Given the description of an element on the screen output the (x, y) to click on. 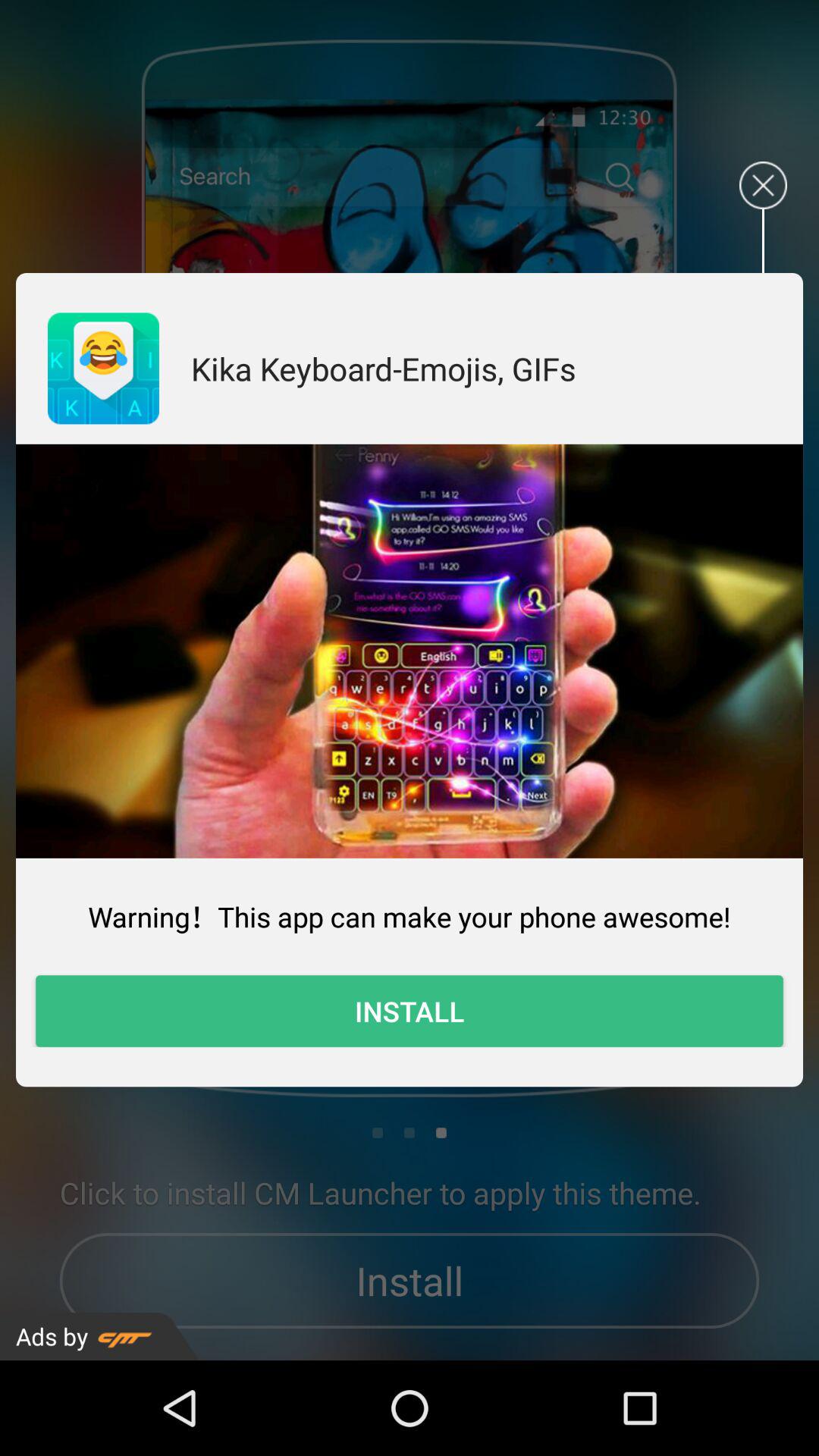
turn on the kika keyboard emojis item (383, 368)
